Given the description of an element on the screen output the (x, y) to click on. 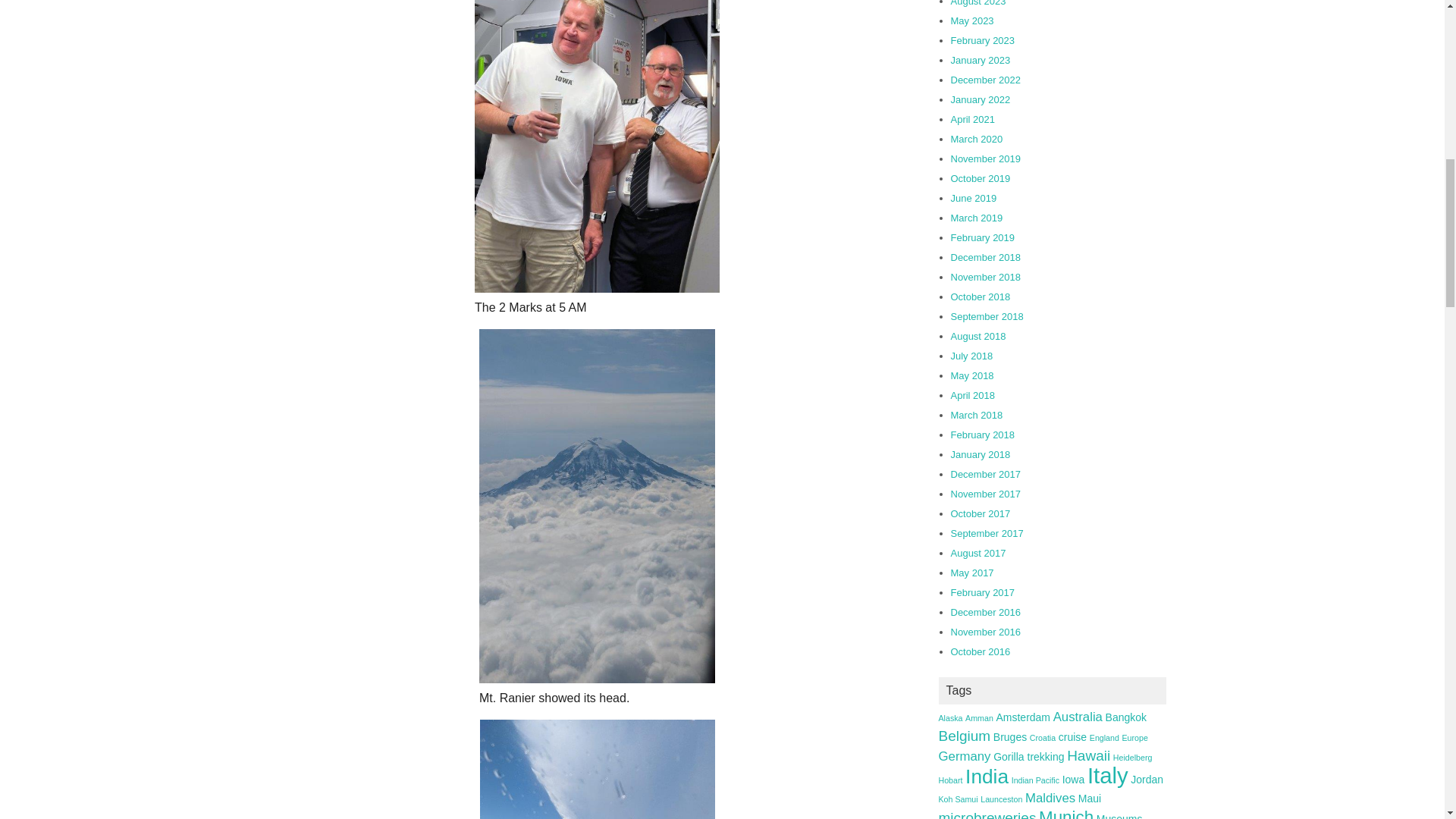
November 2018 (986, 276)
May 2018 (972, 375)
January 2023 (980, 60)
June 2019 (973, 197)
September 2018 (986, 316)
December 2022 (986, 79)
February 2019 (982, 237)
February 2023 (982, 40)
December 2018 (986, 256)
April 2021 (972, 119)
March 2020 (976, 138)
October 2019 (980, 178)
November 2019 (986, 158)
March 2019 (976, 217)
May 2023 (972, 20)
